Given the description of an element on the screen output the (x, y) to click on. 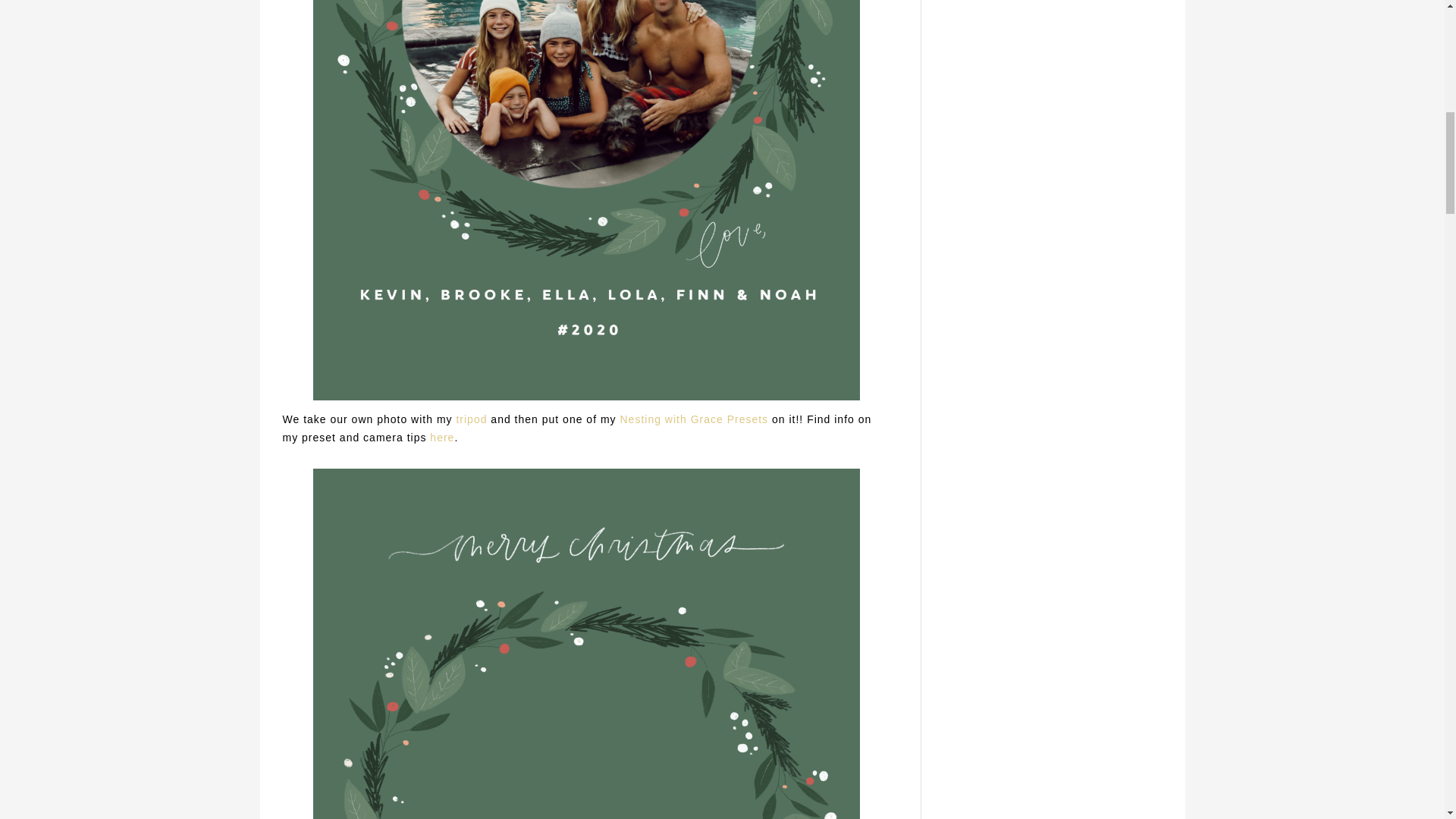
Nesting with Grace Presets (694, 419)
here (441, 437)
tripod (470, 419)
